Given the description of an element on the screen output the (x, y) to click on. 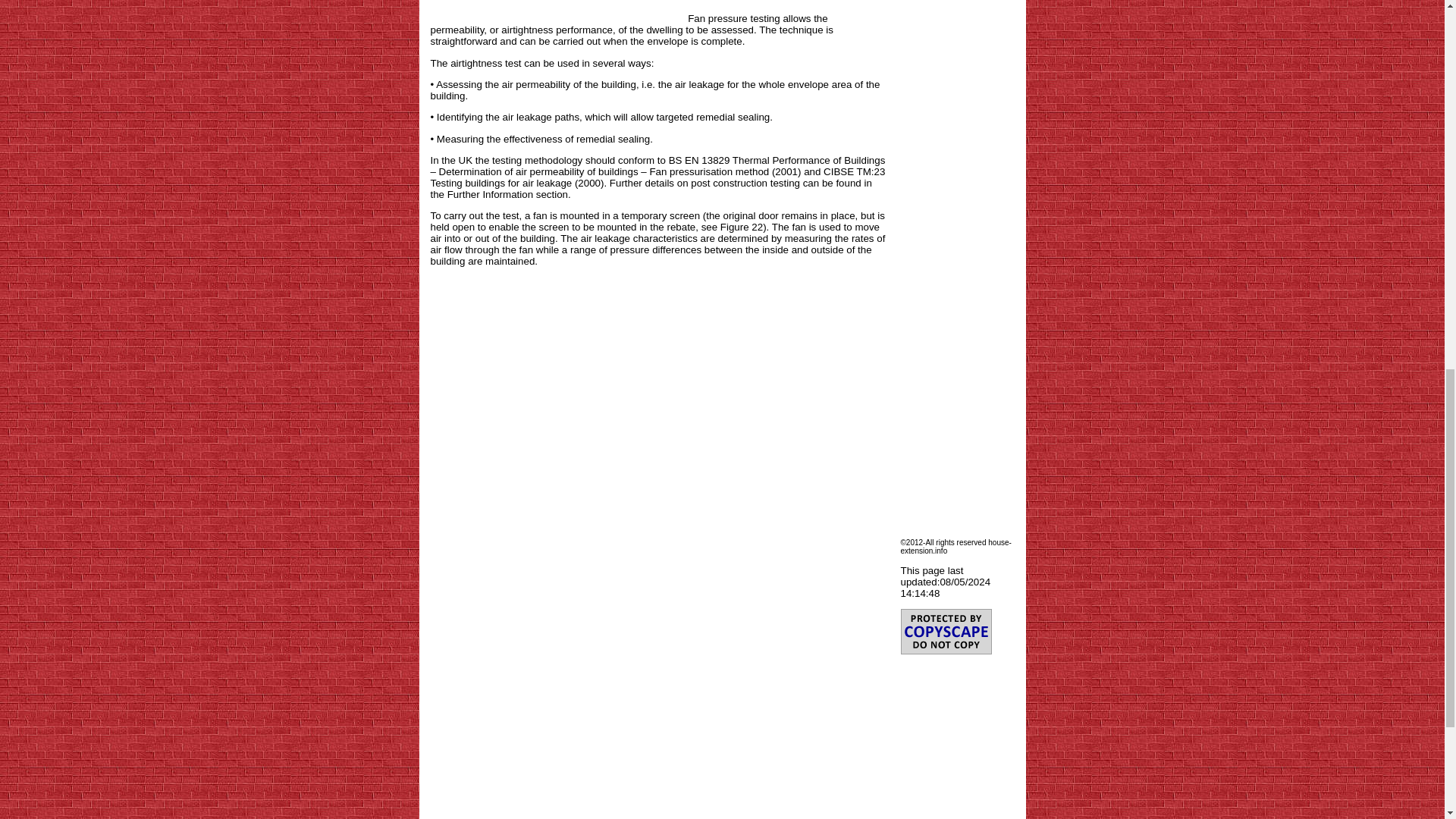
Advertisement (557, 11)
